Given the description of an element on the screen output the (x, y) to click on. 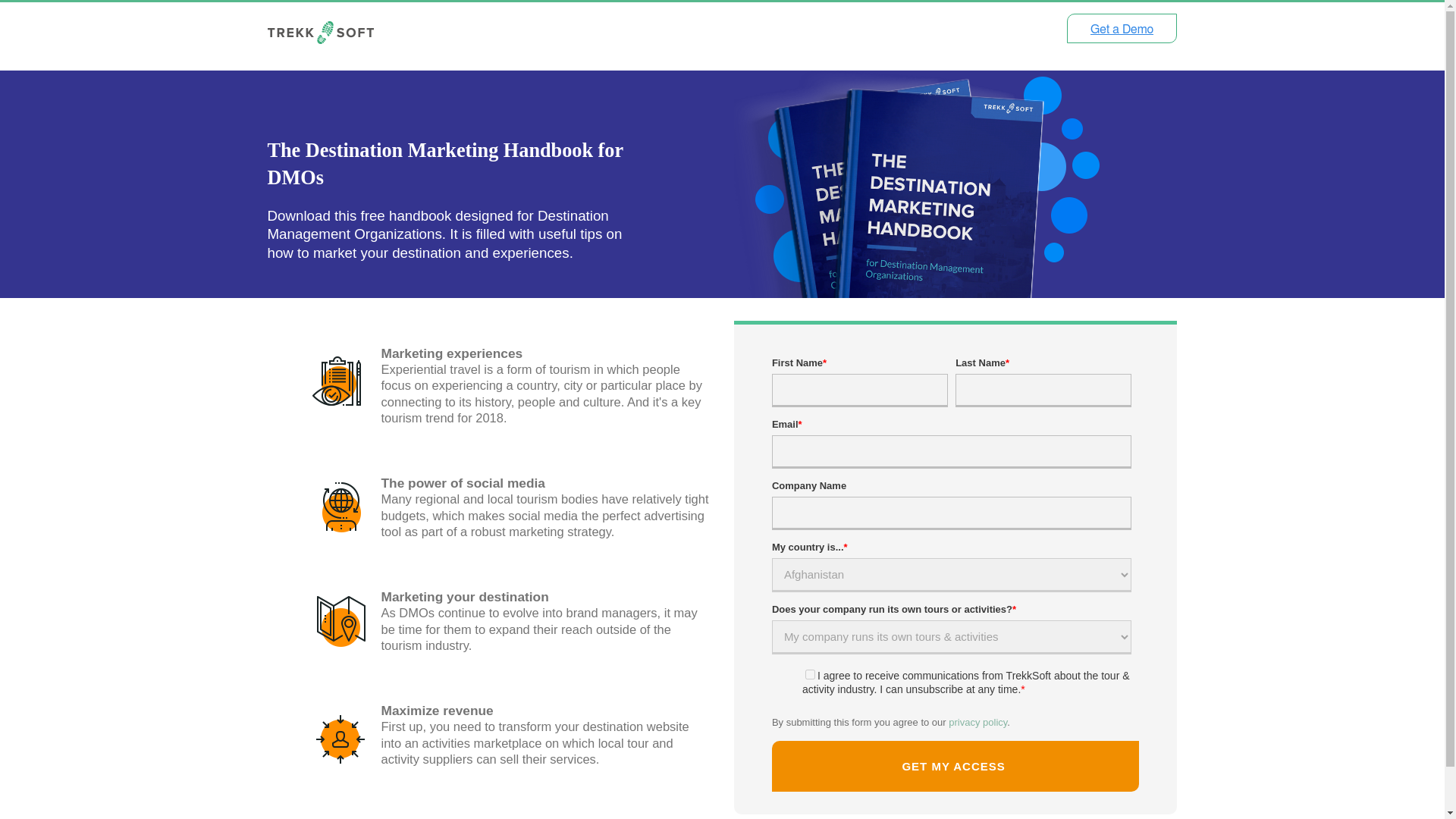
Get my access  (955, 766)
privacy policy (978, 722)
Get my access  (955, 766)
true (810, 674)
